Given the description of an element on the screen output the (x, y) to click on. 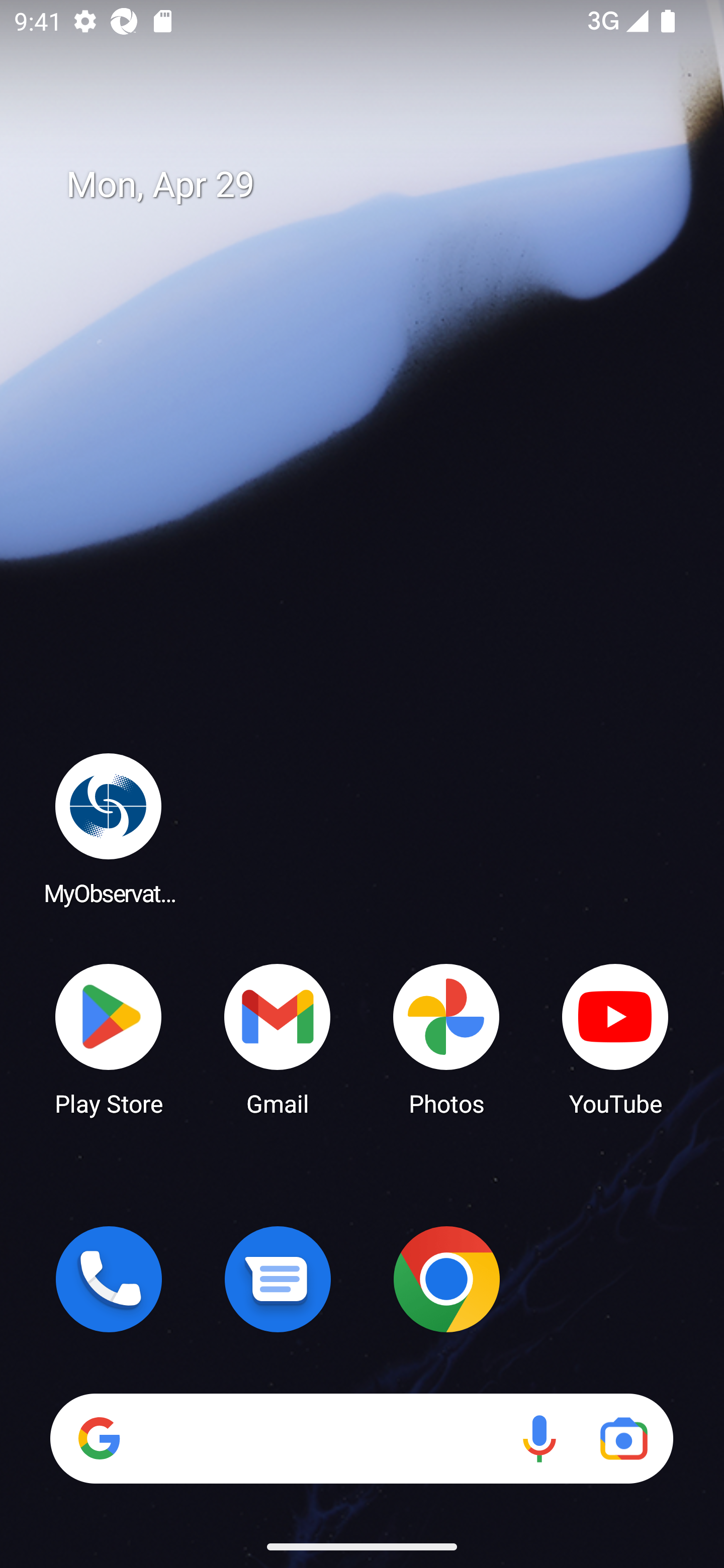
Mon, Apr 29 (375, 184)
MyObservatory (108, 828)
Play Store (108, 1038)
Gmail (277, 1038)
Photos (445, 1038)
YouTube (615, 1038)
Phone (108, 1279)
Messages (277, 1279)
Chrome (446, 1279)
Voice search (539, 1438)
Google Lens (623, 1438)
